Given the description of an element on the screen output the (x, y) to click on. 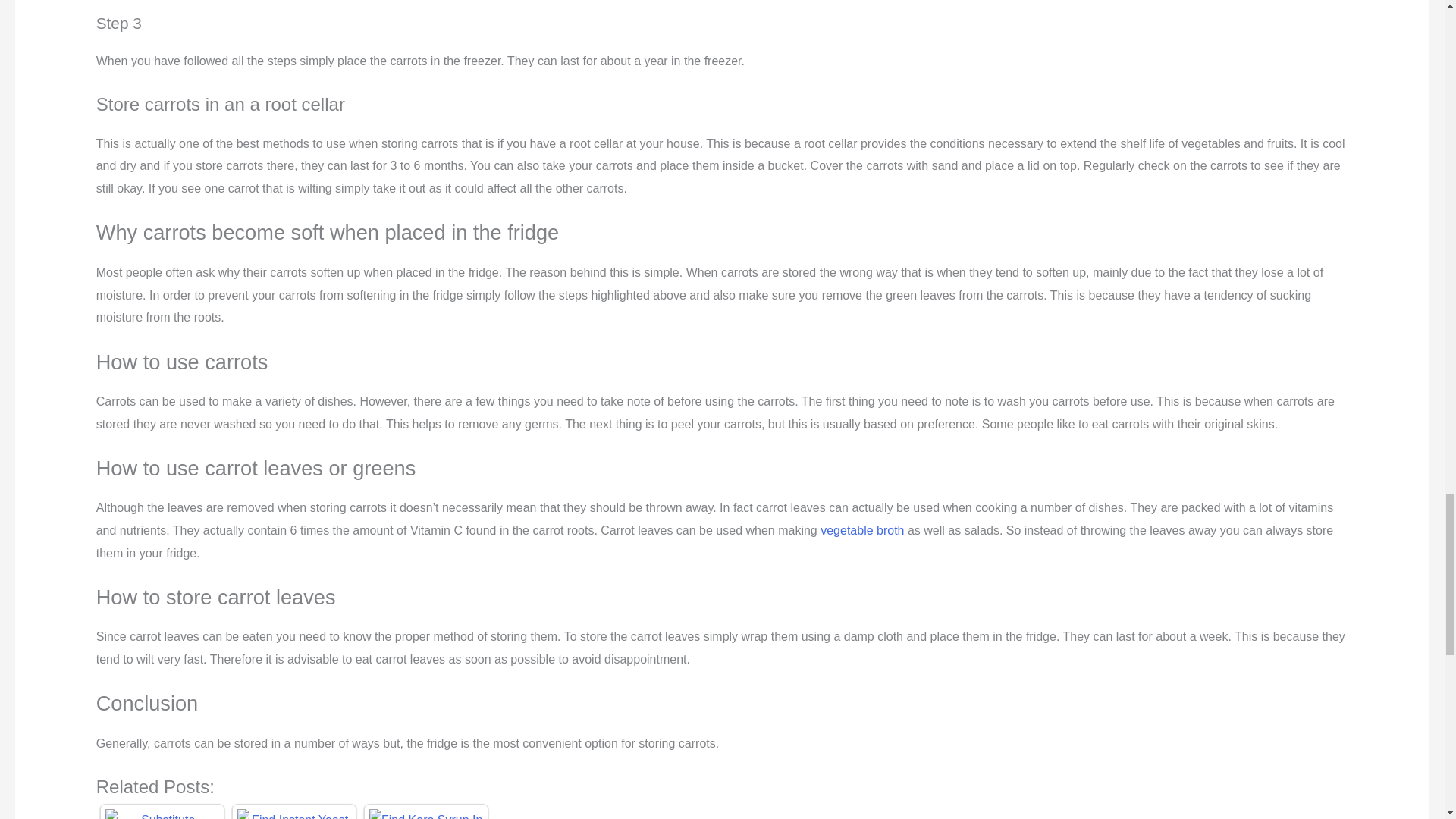
Where To Find Instant Yeast In Grocery Store (293, 814)
Where To Find Karo Syrup In Grocery Store (426, 814)
Can You Substitute Zucchini For Carrots In Carrot Cake? (161, 814)
Can You Substitute Zucchini For Carrots In Carrot Cake? (161, 814)
Where To Find Instant Yeast In Grocery Store (293, 814)
vegetable broth (862, 530)
Where To Find Karo Syrup In Grocery Store (426, 814)
